Given the description of an element on the screen output the (x, y) to click on. 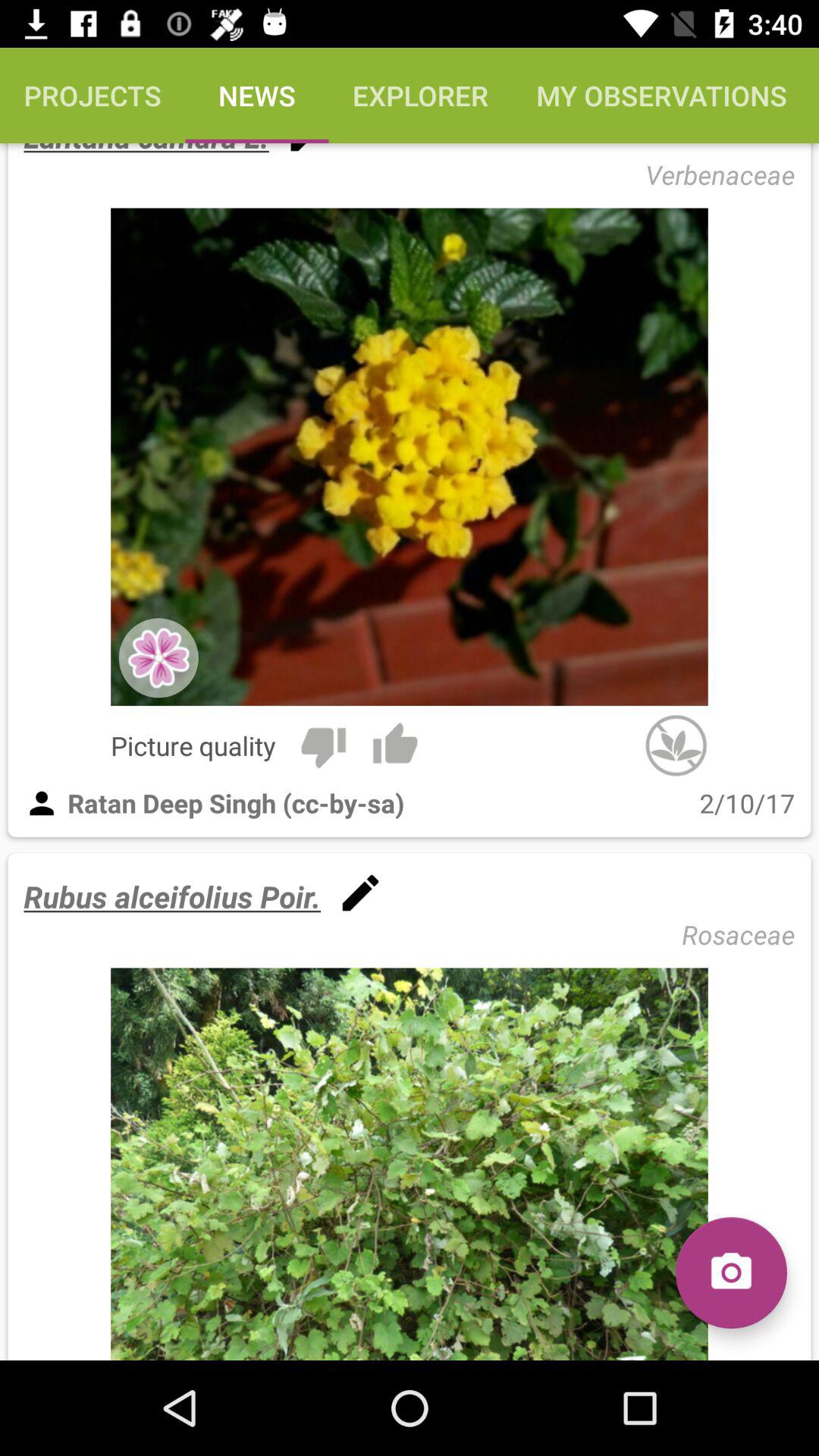
turn on the item above ratan deep singh (395, 745)
